Given the description of an element on the screen output the (x, y) to click on. 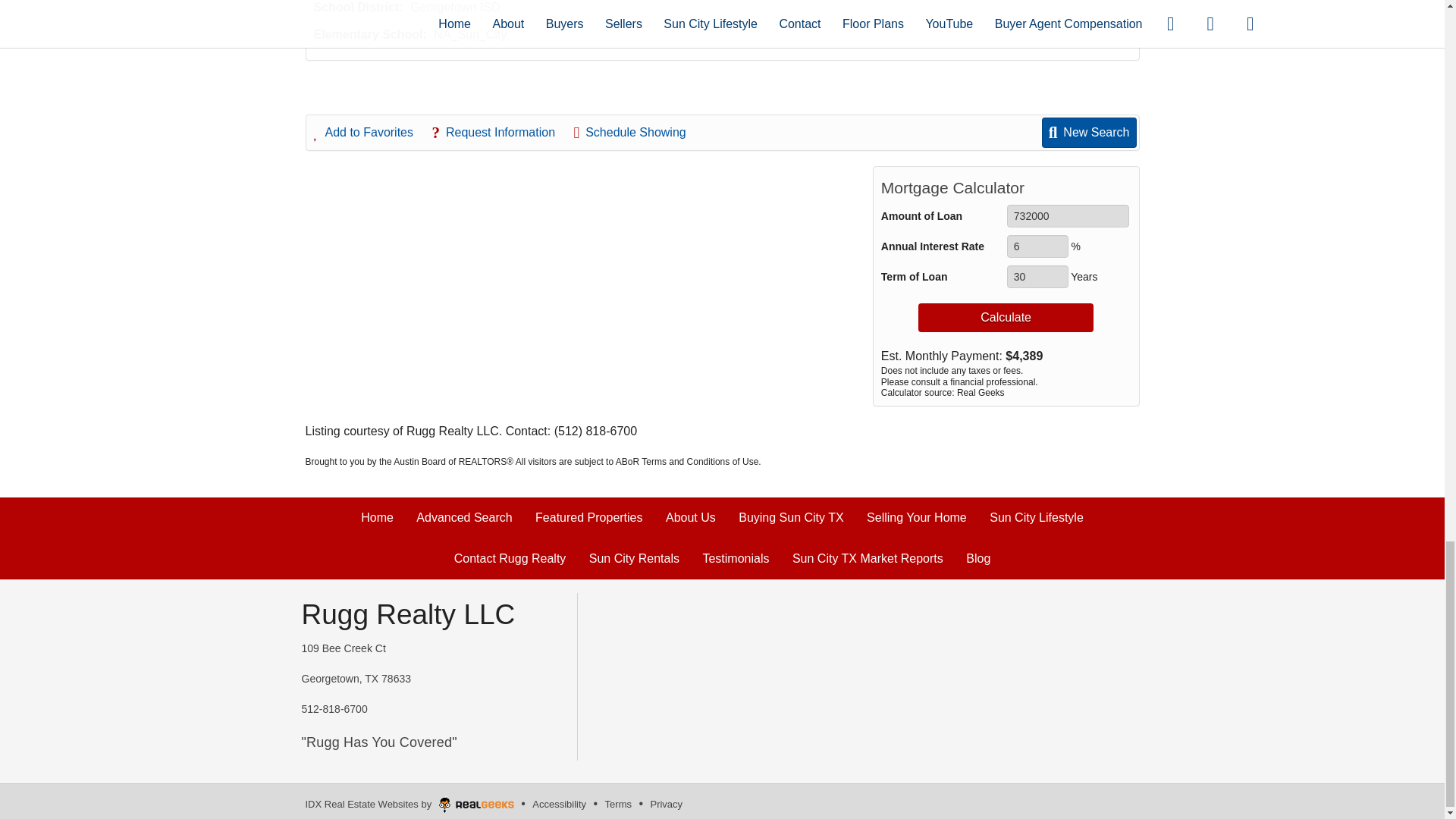
6 (1037, 246)
30 (1037, 276)
732000 (1068, 215)
